Given the description of an element on the screen output the (x, y) to click on. 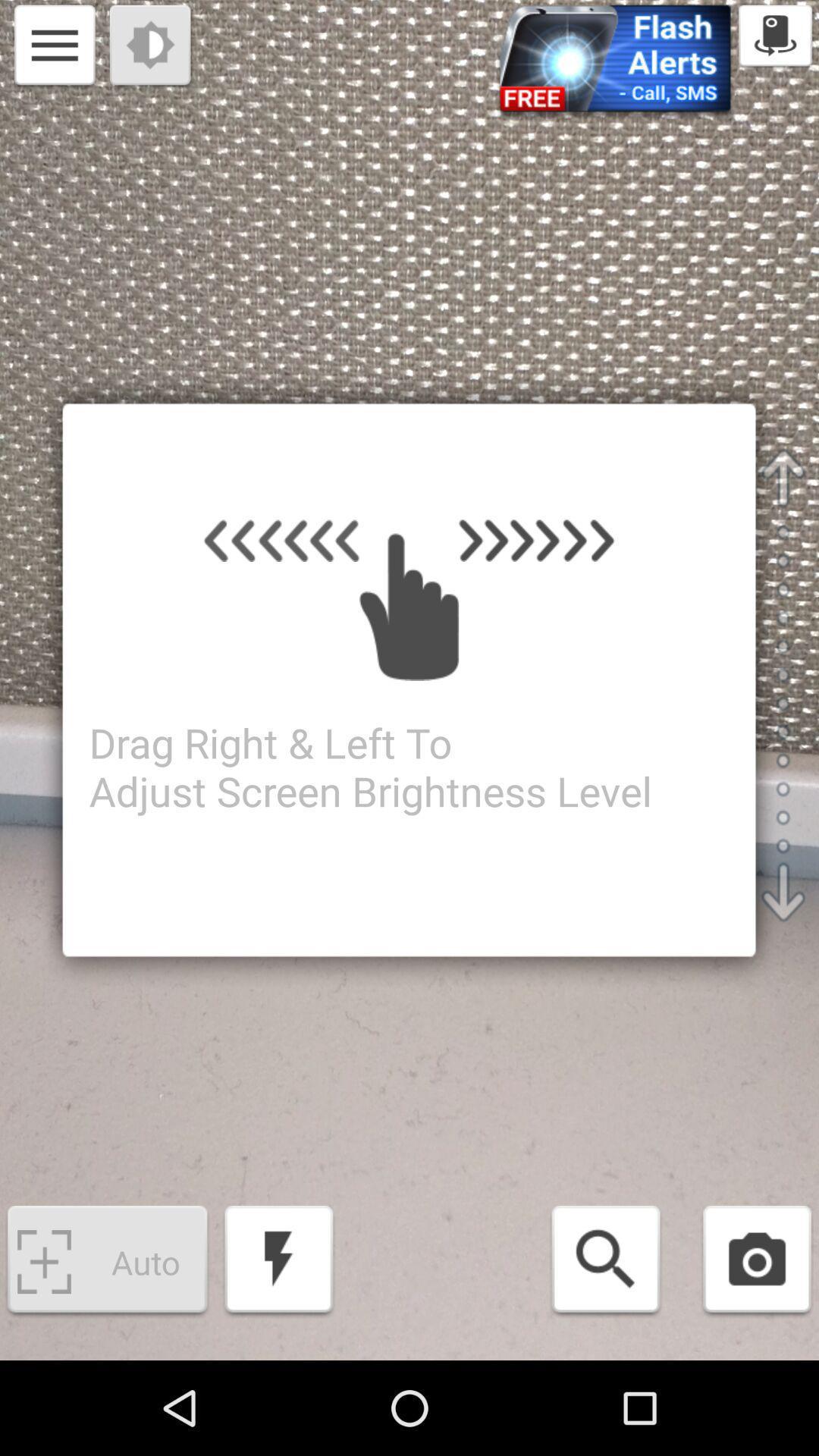
tap the icon below the drag right left item (278, 1261)
